Given the description of an element on the screen output the (x, y) to click on. 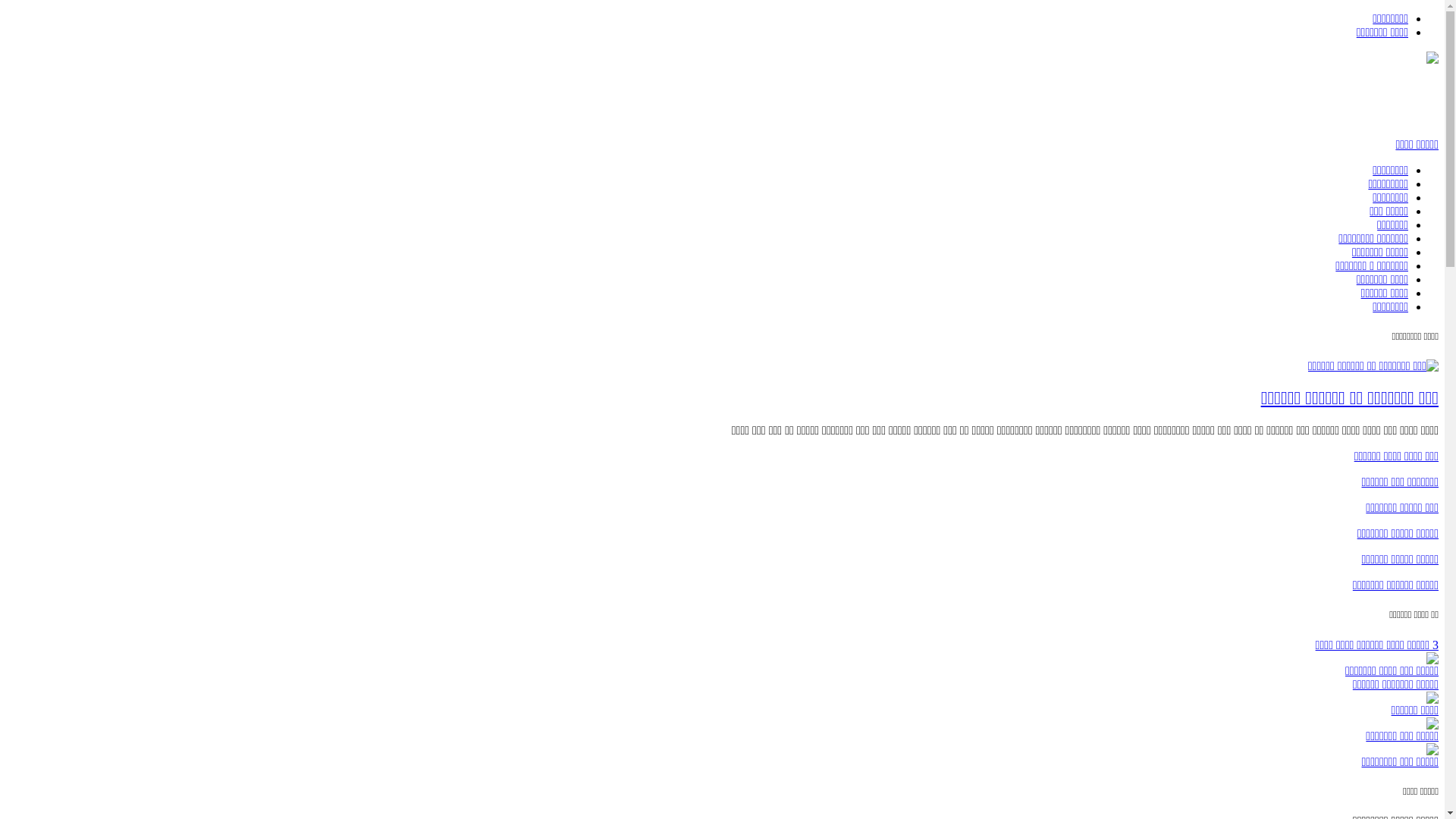
Advertisement Element type: hover (1162, 100)
